Given the description of an element on the screen output the (x, y) to click on. 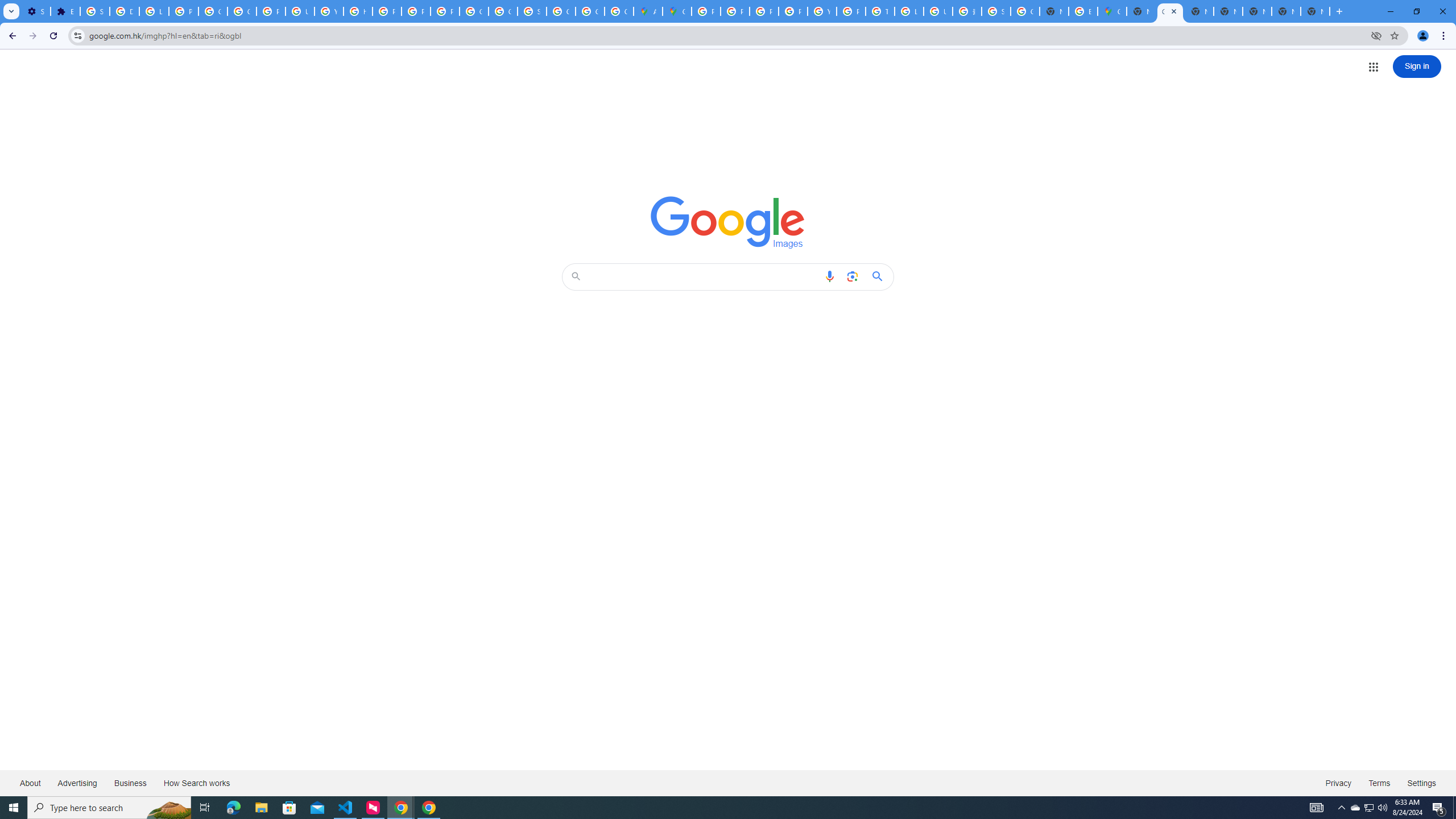
Settings - On startup (35, 11)
Policy Accountability and Transparency - Transparency Center (705, 11)
Advertising (77, 782)
Sign in - Google Accounts (531, 11)
YouTube (327, 11)
